Given the description of an element on the screen output the (x, y) to click on. 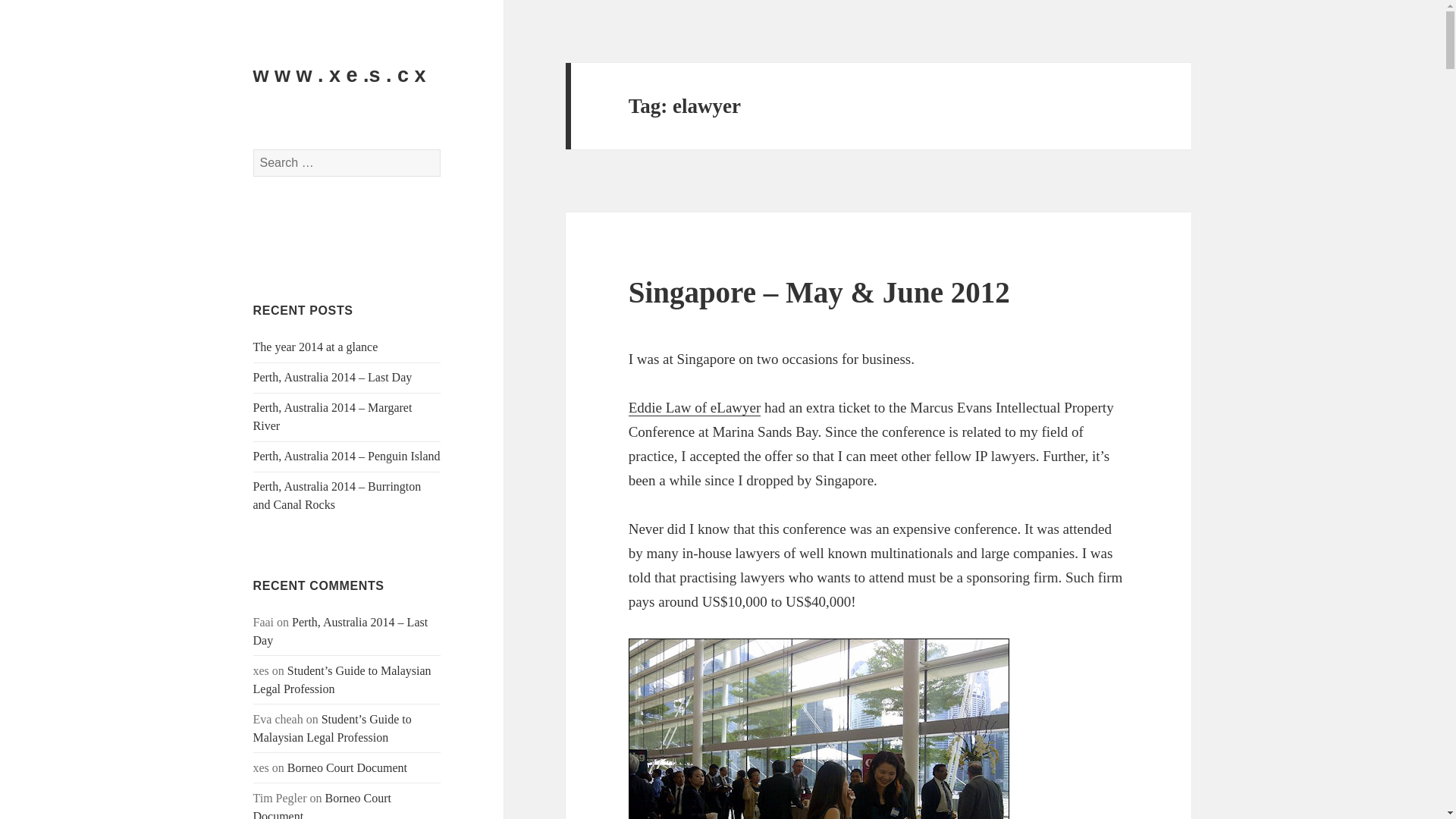
The year 2014 at a glance (315, 346)
w w w . x e .s . c x (339, 74)
Borneo Court Document (322, 805)
Borneo Court Document (346, 767)
